Given the description of an element on the screen output the (x, y) to click on. 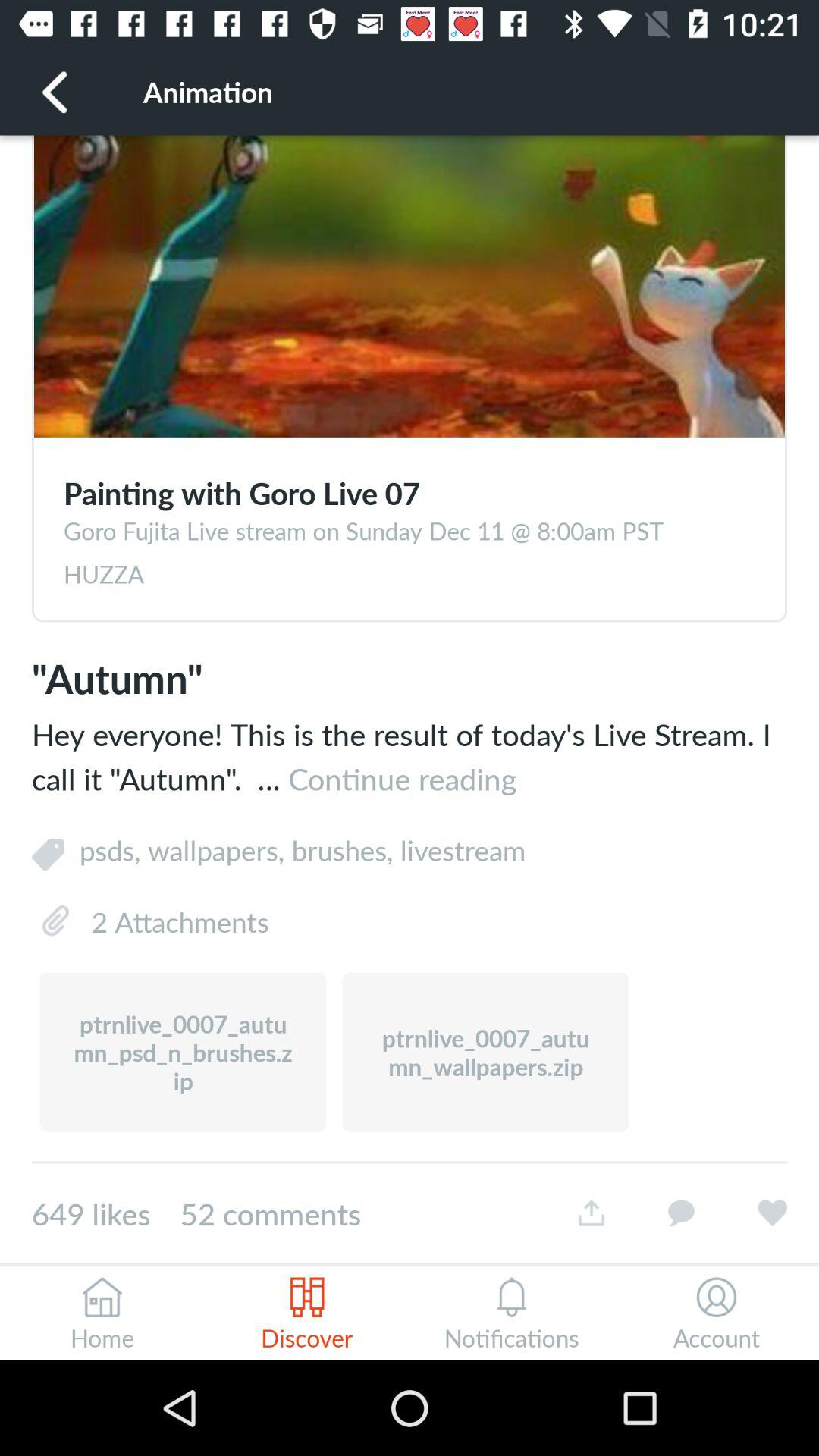
turn on the 649 likes 52 item (288, 1213)
